Given the description of an element on the screen output the (x, y) to click on. 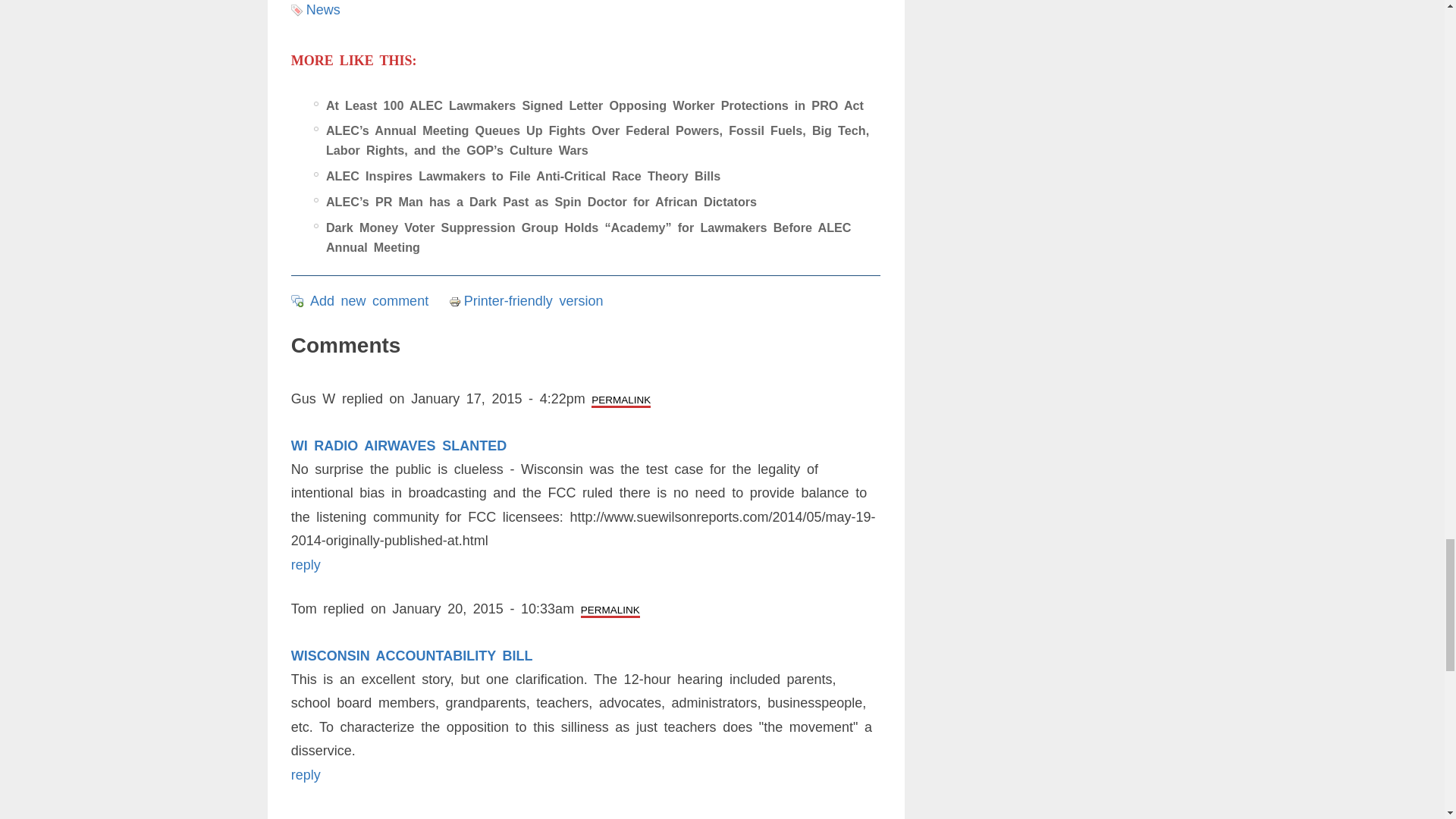
Share your thoughts and opinions related to this posting. (369, 300)
Printer-friendly version (456, 301)
News (322, 9)
Display a printer-friendly version of this page. (526, 300)
